Given the description of an element on the screen output the (x, y) to click on. 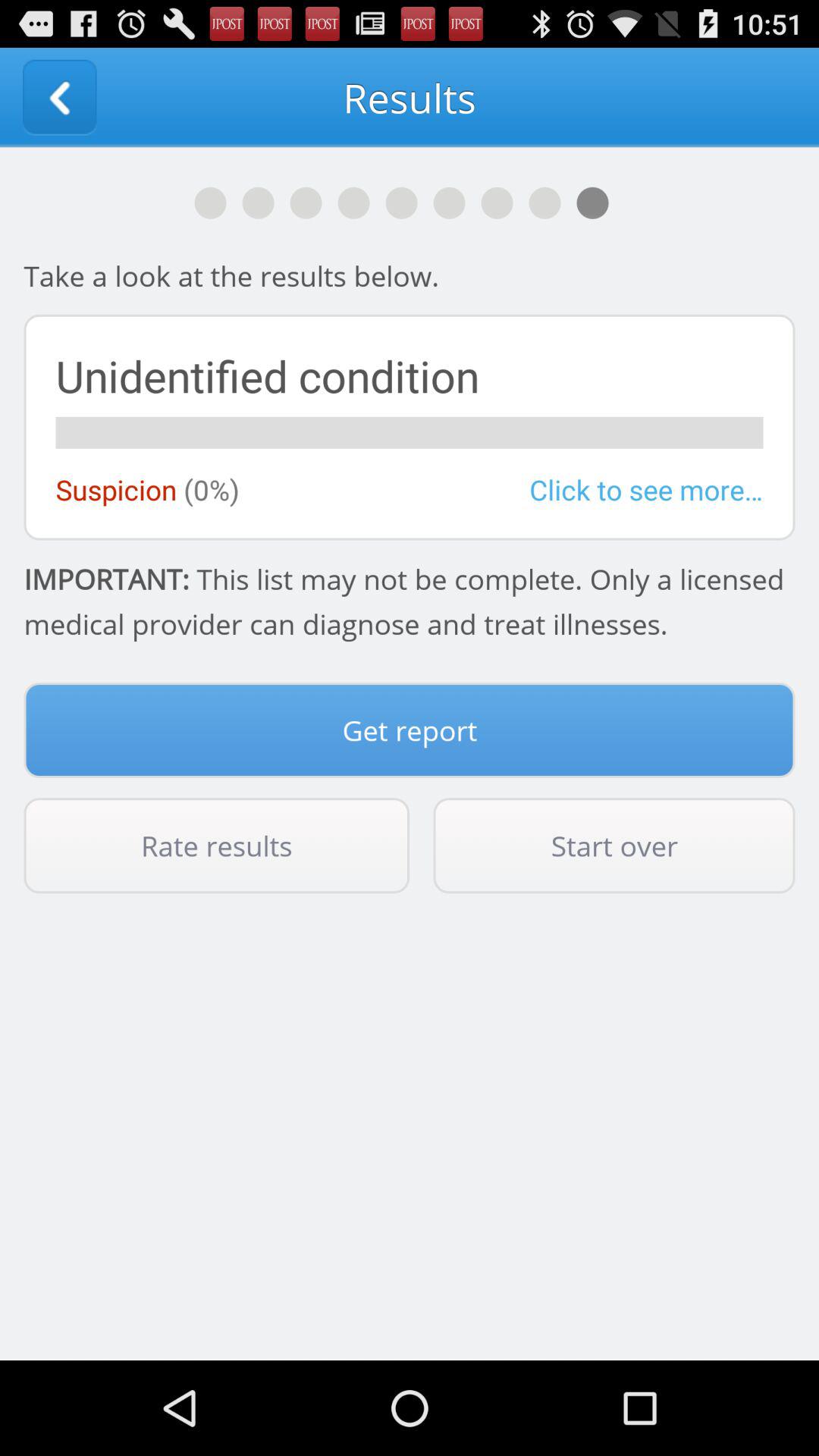
jump to the rate results item (216, 845)
